Given the description of an element on the screen output the (x, y) to click on. 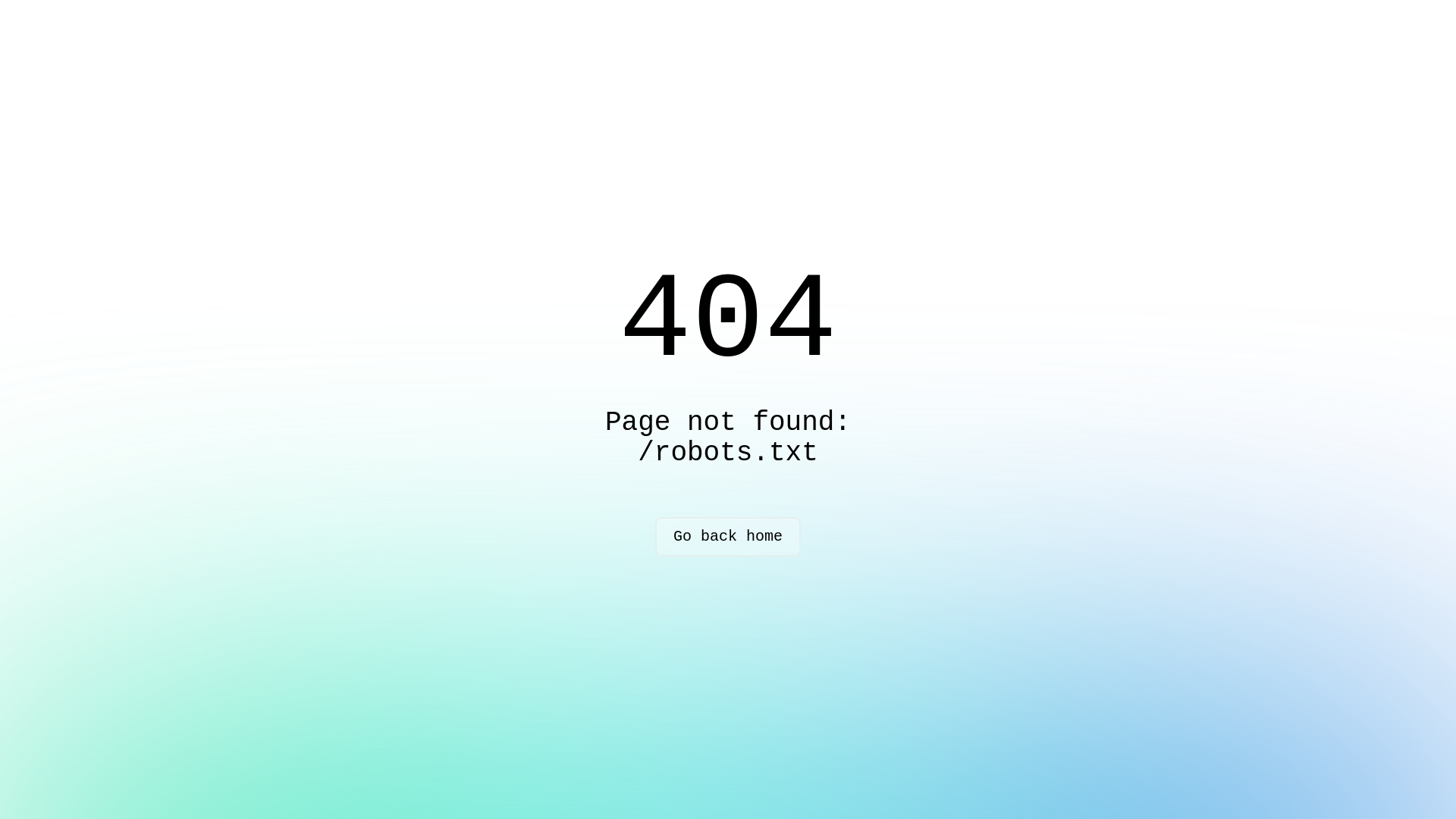
Go back home Element type: text (727, 536)
